Given the description of an element on the screen output the (x, y) to click on. 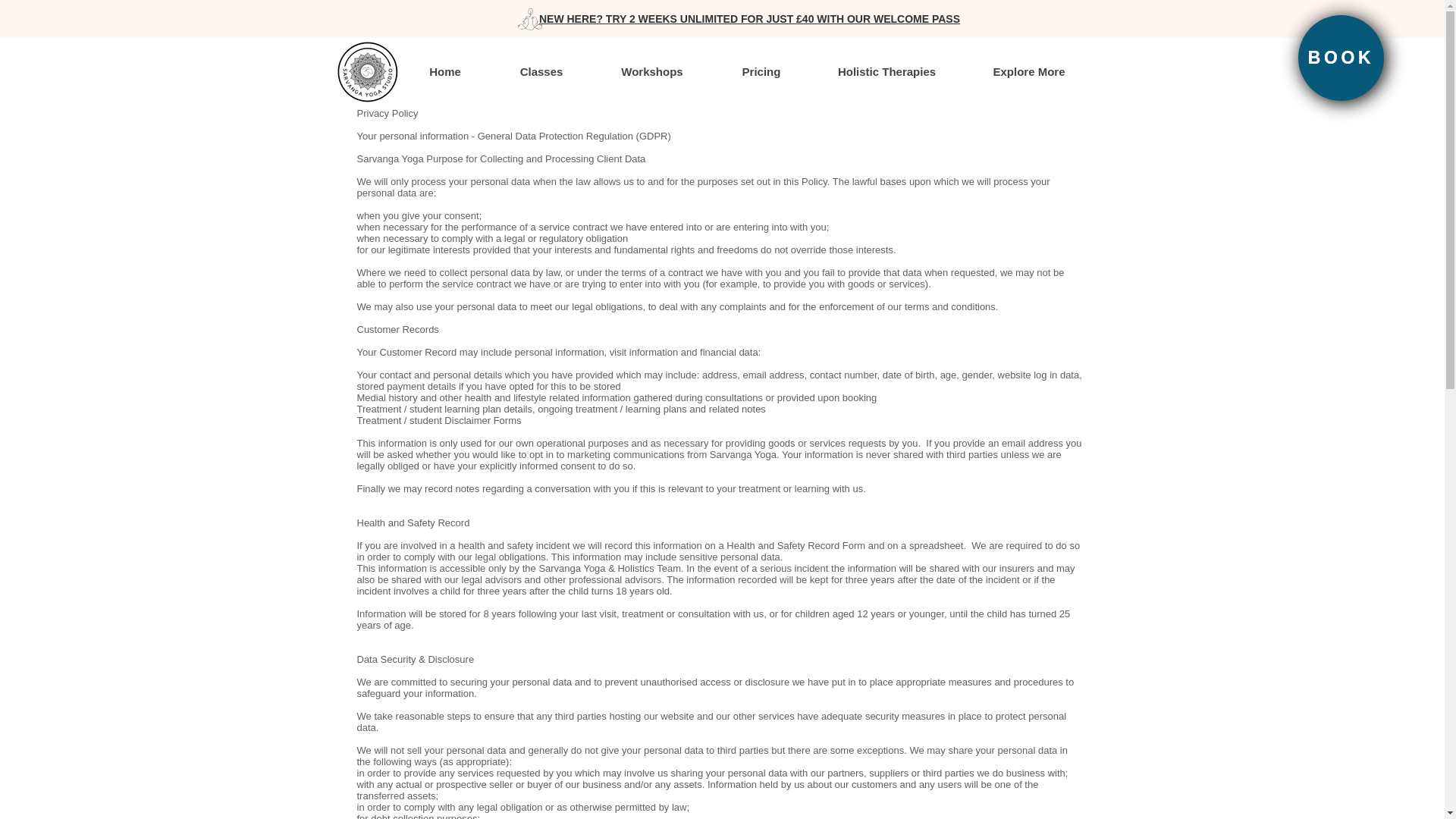
Holistic Therapies (886, 71)
Home (444, 71)
BOOK (1341, 57)
